Given the description of an element on the screen output the (x, y) to click on. 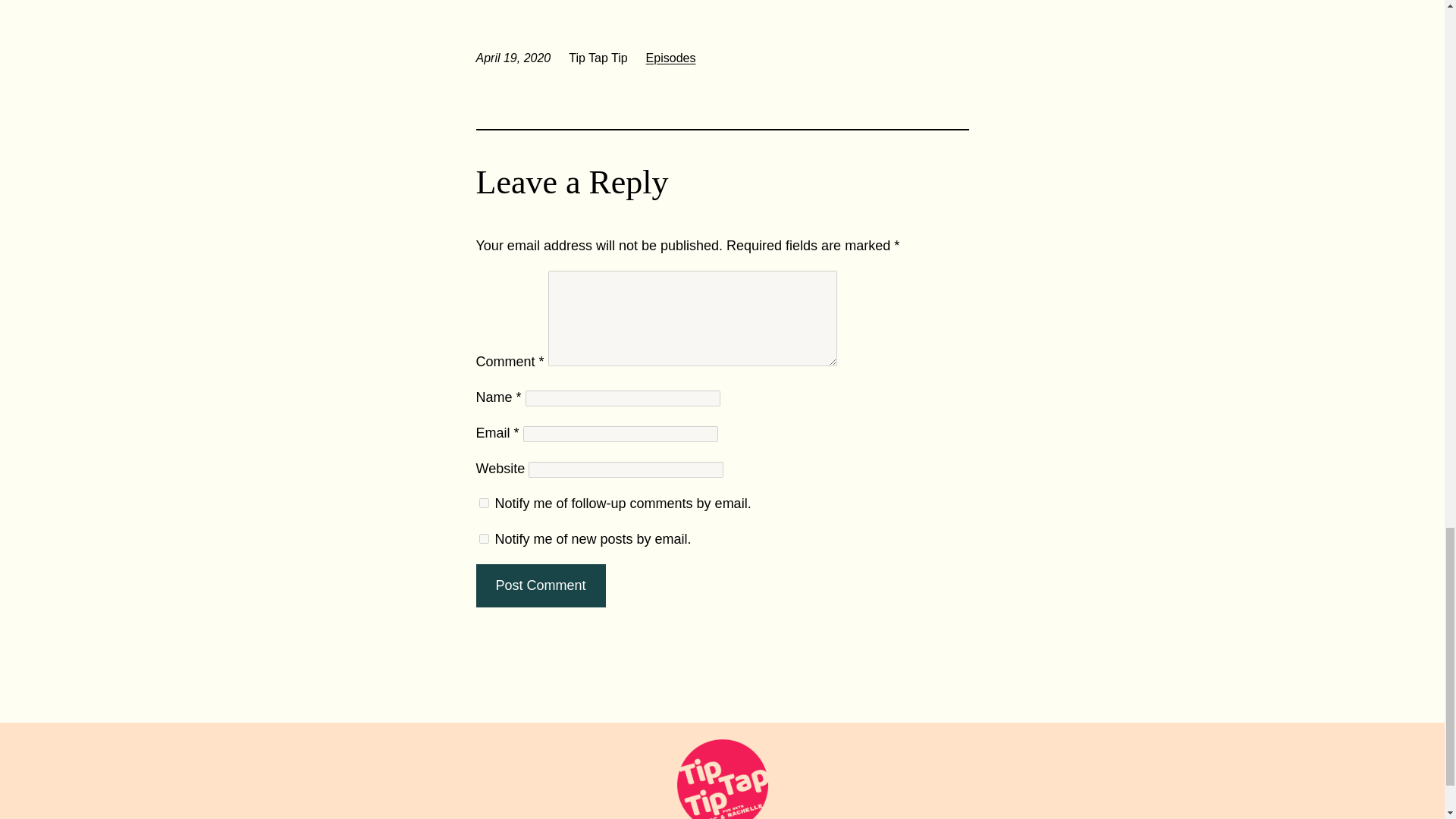
subscribe (484, 502)
Post Comment (540, 585)
Episodes (670, 57)
subscribe (484, 538)
Post Comment (540, 585)
